Given the description of an element on the screen output the (x, y) to click on. 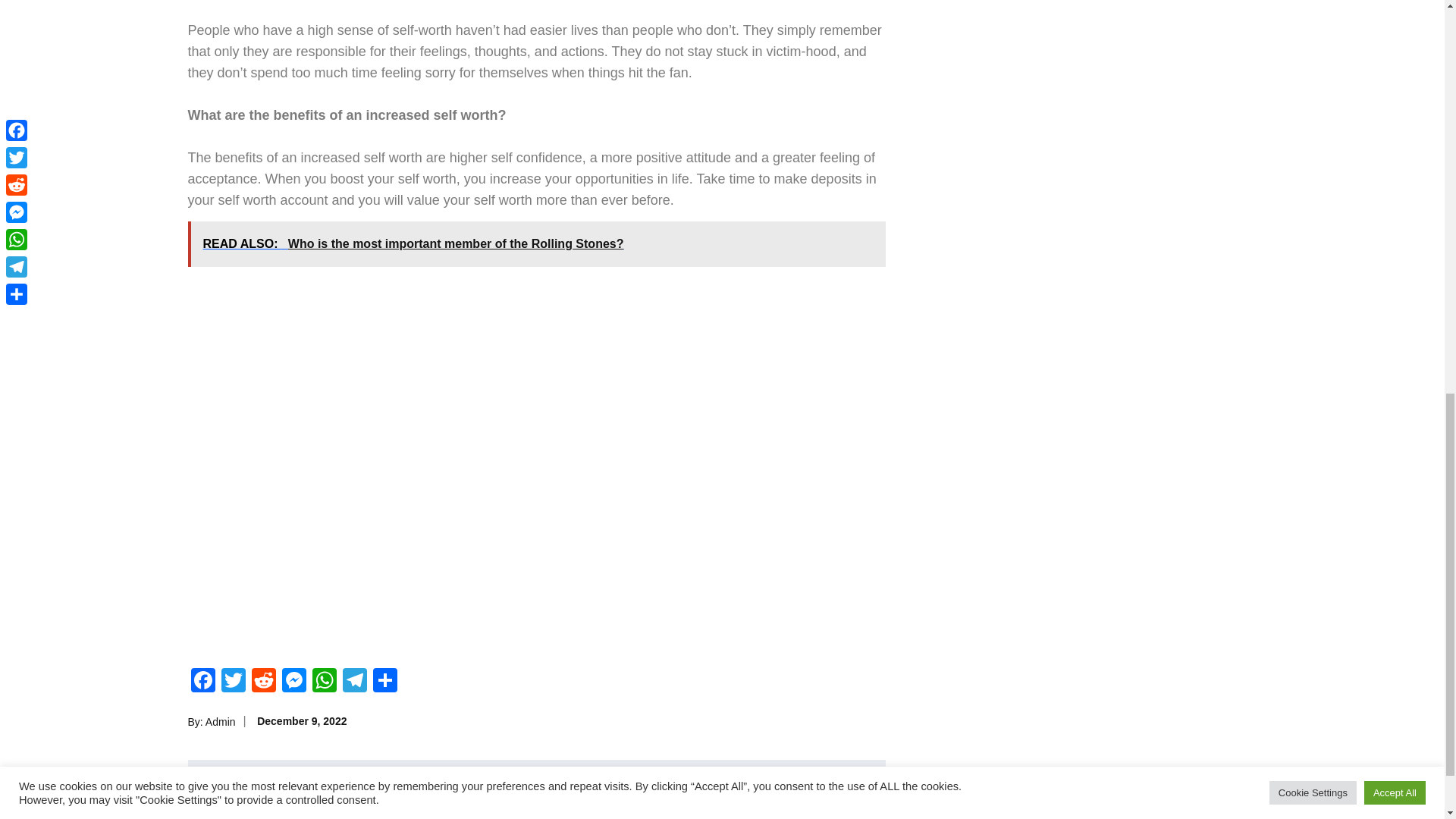
WhatsApp (323, 682)
Facebook (202, 682)
Messenger (293, 682)
December 9, 2022 (301, 720)
WhatsApp (323, 682)
Admin (220, 721)
Telegram (354, 682)
Twitter (233, 682)
